Given the description of an element on the screen output the (x, y) to click on. 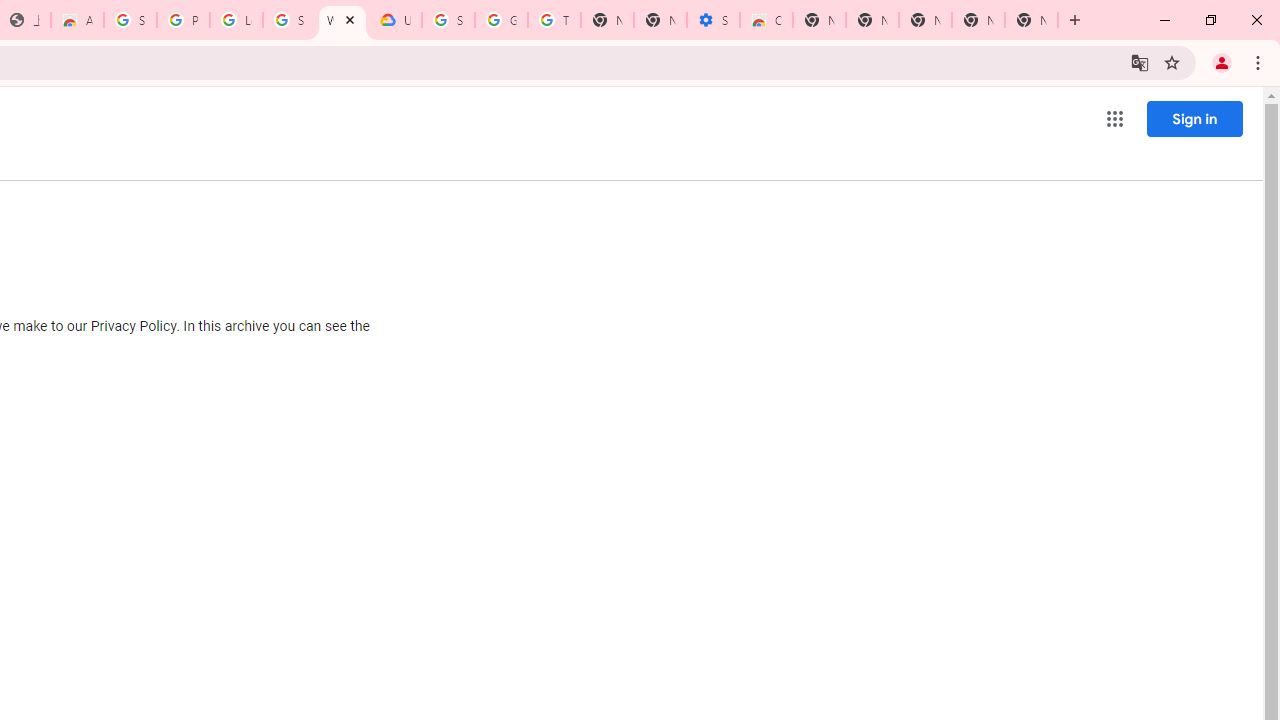
Chrome Web Store - Accessibility extensions (766, 20)
Awesome Screen Recorder & Screenshot - Chrome Web Store (77, 20)
Sign in - Google Accounts (289, 20)
Google Account Help (501, 20)
Turn cookies on or off - Computer - Google Account Help (554, 20)
Sign in - Google Accounts (448, 20)
Translate this page (1139, 62)
New Tab (819, 20)
New Tab (1031, 20)
Google Apps (1114, 118)
